Given the description of an element on the screen output the (x, y) to click on. 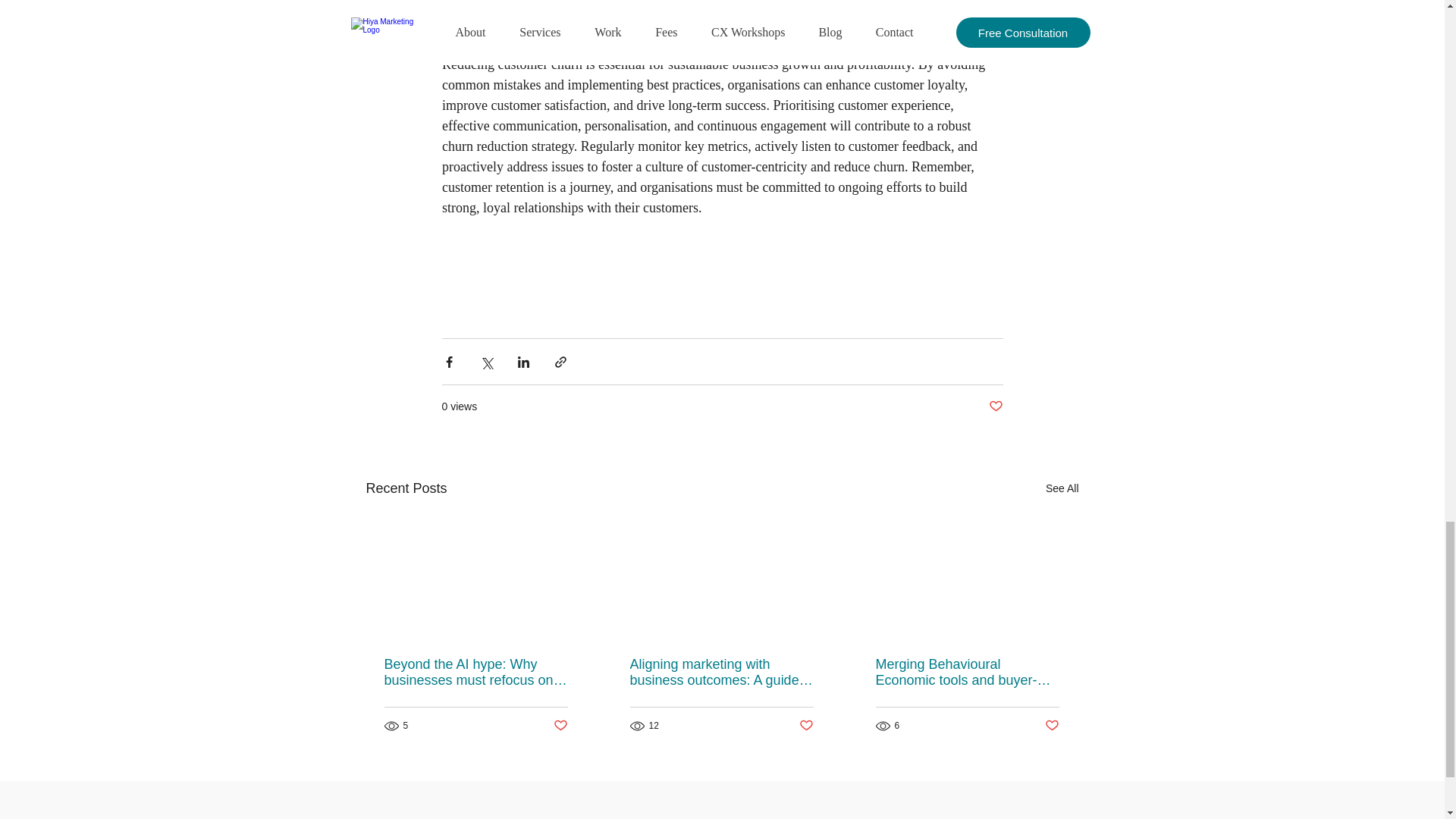
See All (1061, 488)
Post not marked as liked (995, 406)
Post not marked as liked (560, 725)
Post not marked as liked (1052, 725)
Post not marked as liked (806, 725)
